Given the description of an element on the screen output the (x, y) to click on. 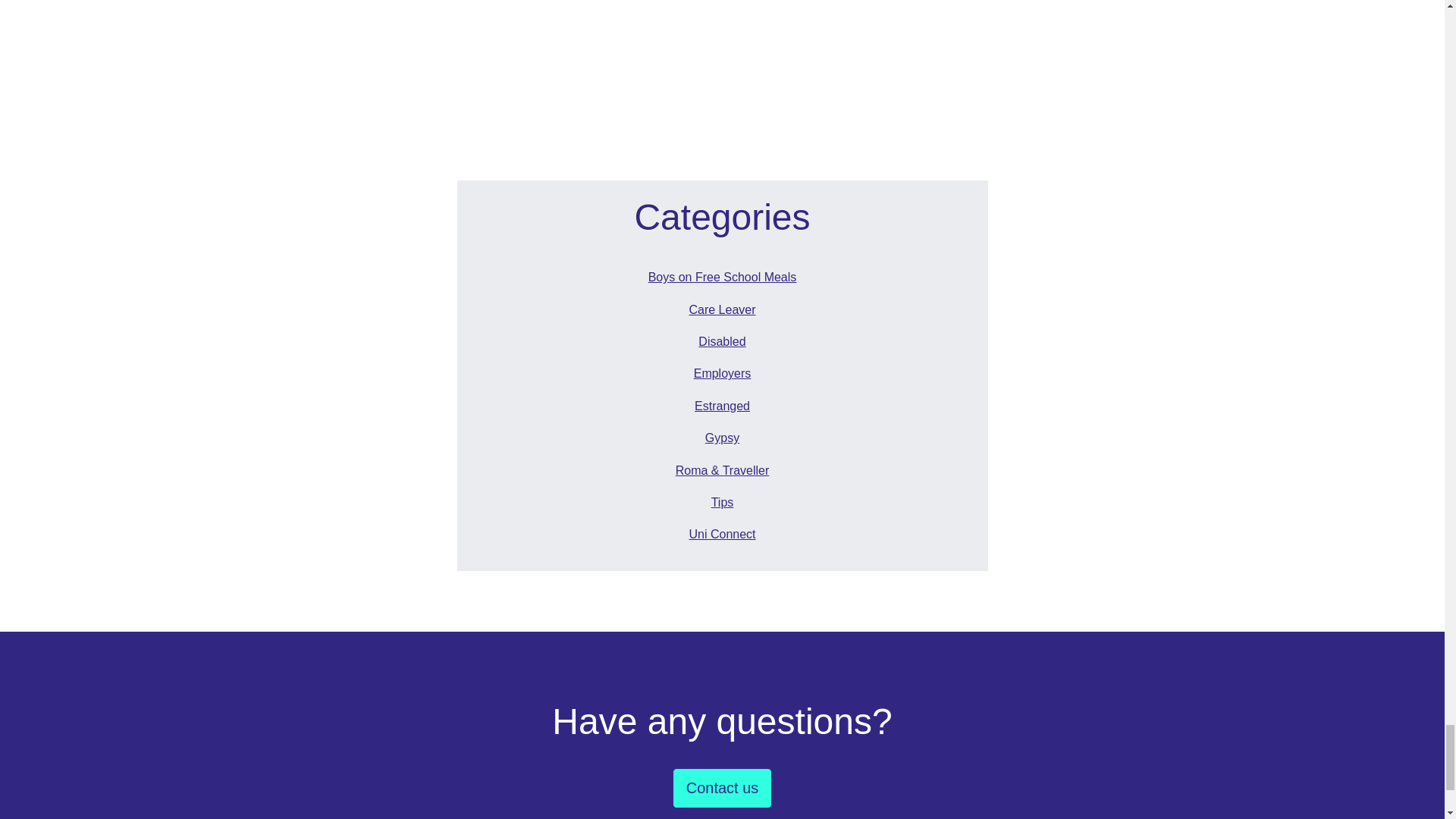
Gypsy (721, 437)
Tips (721, 502)
Employers (721, 373)
Boys on Free School Meals (721, 277)
Estranged (721, 405)
Disabled (721, 341)
Care Leaver (721, 309)
